Given the description of an element on the screen output the (x, y) to click on. 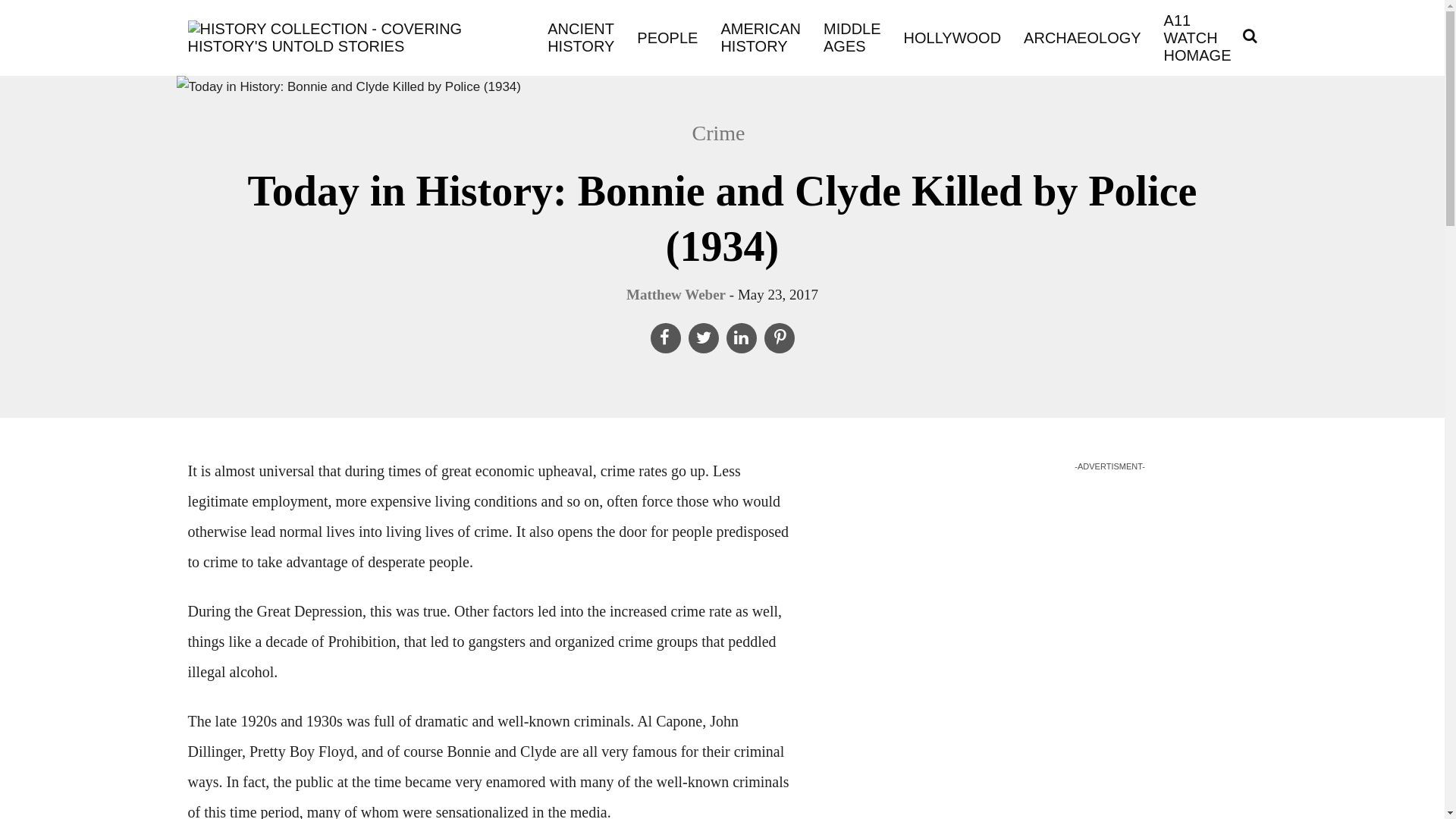
Crime (725, 133)
A11 WATCH HOMAGE (1197, 38)
ANCIENT HISTORY (580, 37)
Matthew Weber (675, 294)
PEOPLE (666, 36)
HOLLYWOOD (952, 36)
AMERICAN HISTORY (760, 37)
ARCHAEOLOGY (1082, 36)
MIDDLE AGES (851, 37)
